Given the description of an element on the screen output the (x, y) to click on. 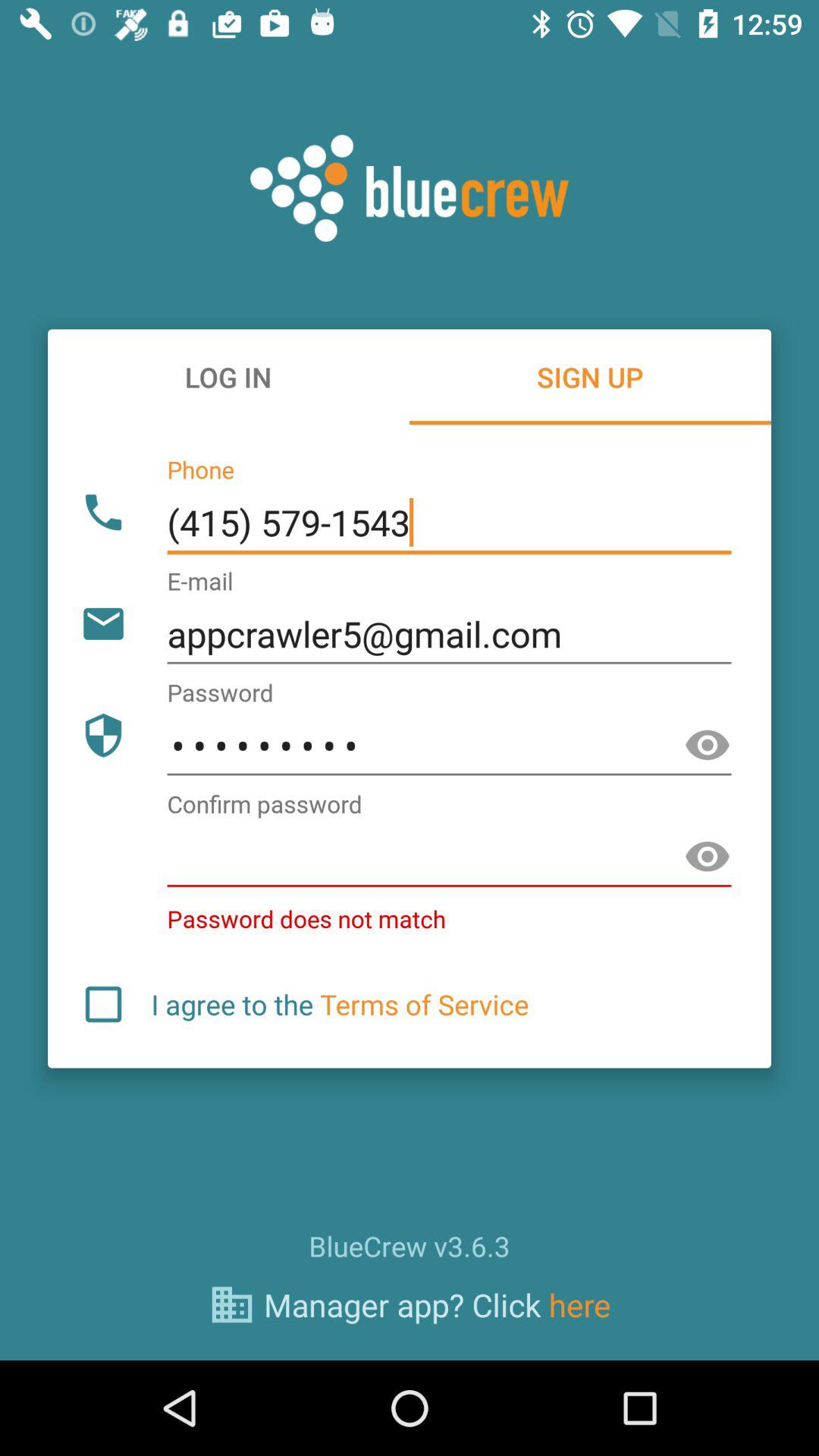
show password option (707, 857)
